Given the description of an element on the screen output the (x, y) to click on. 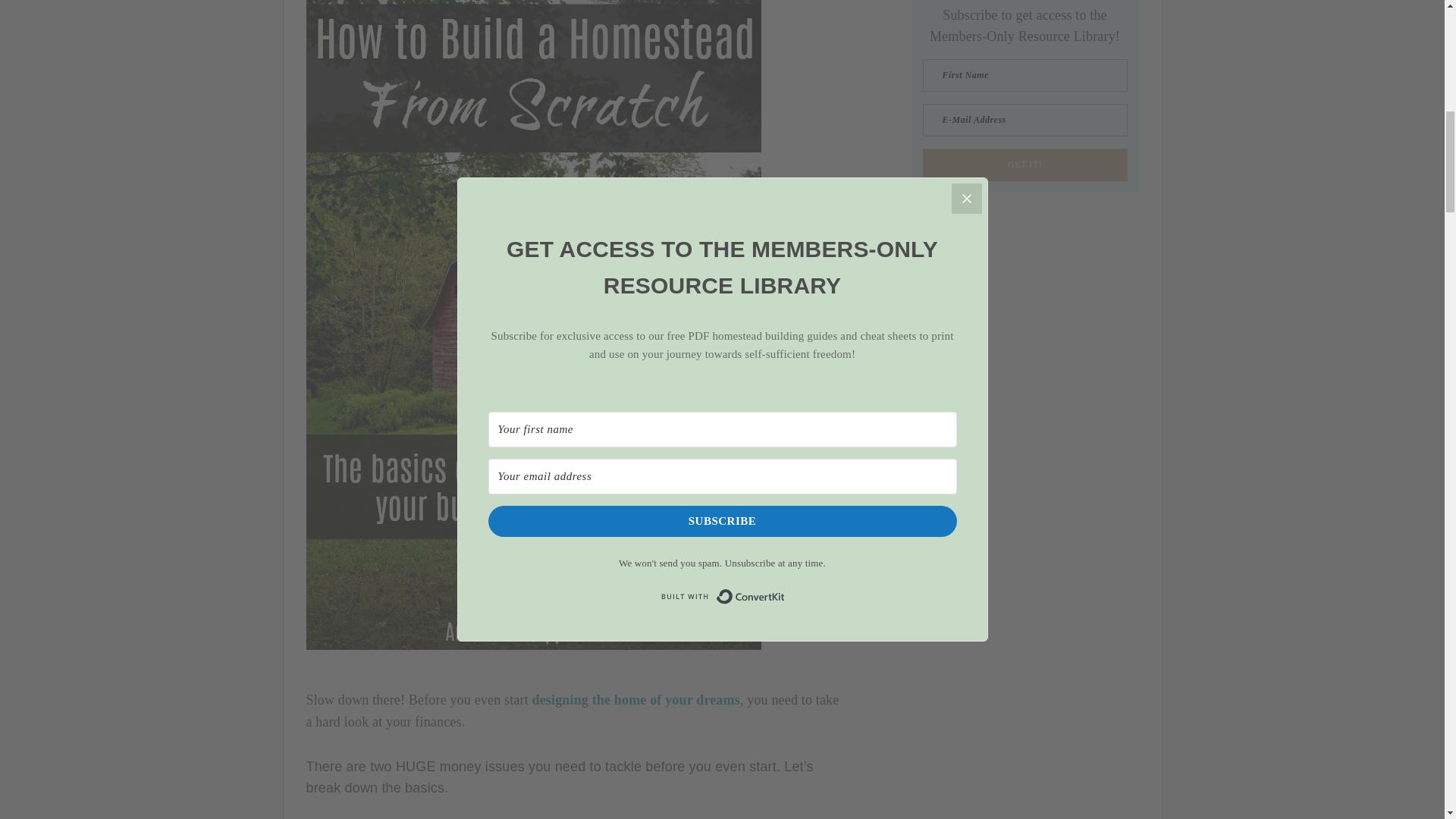
Get it! (1023, 164)
